Given the description of an element on the screen output the (x, y) to click on. 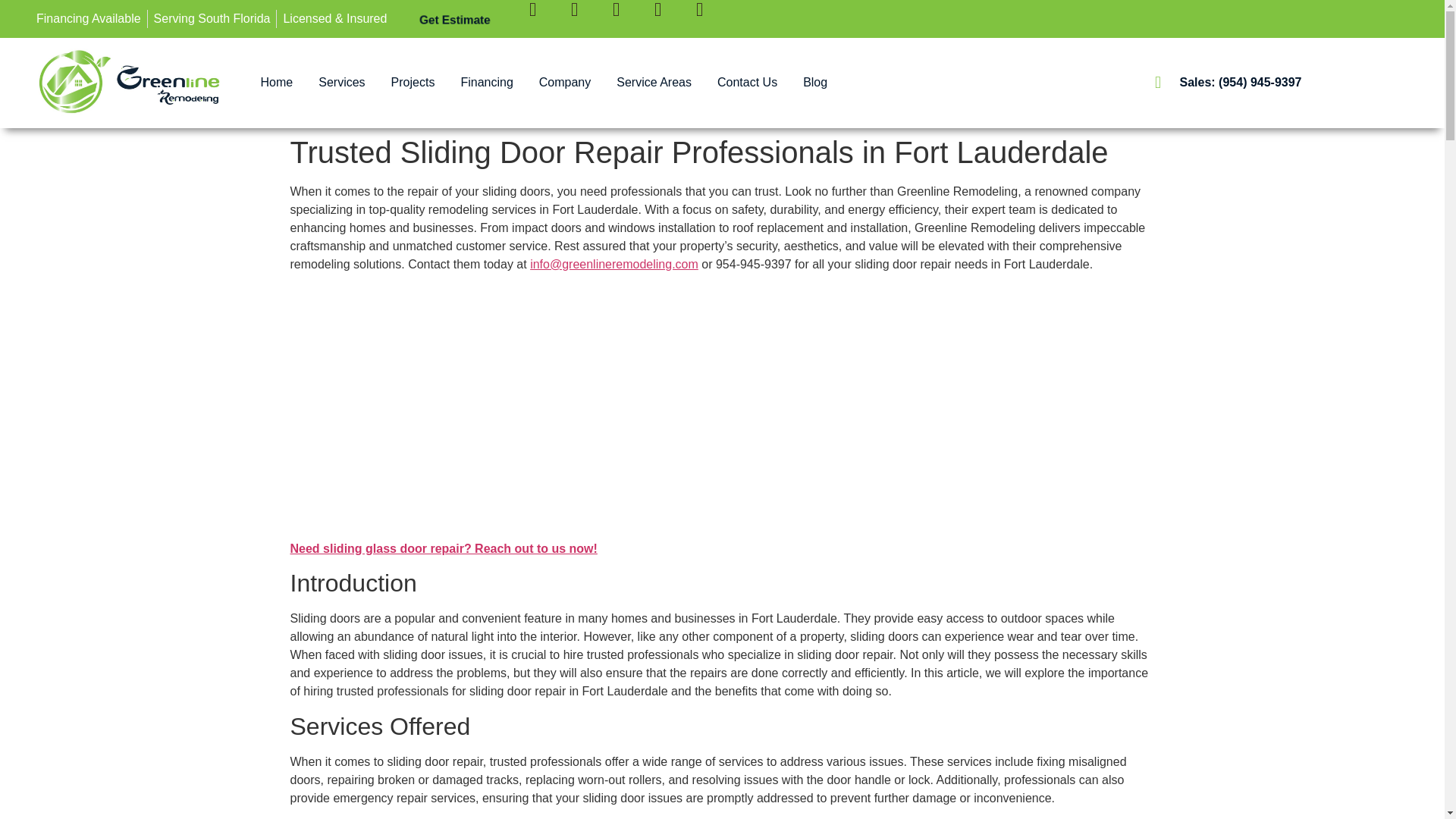
Services (341, 82)
Home (276, 82)
Get Estimate (453, 18)
Financing (485, 82)
Financing Available (88, 18)
Serving South Florida (212, 18)
Projects (413, 82)
